Given the description of an element on the screen output the (x, y) to click on. 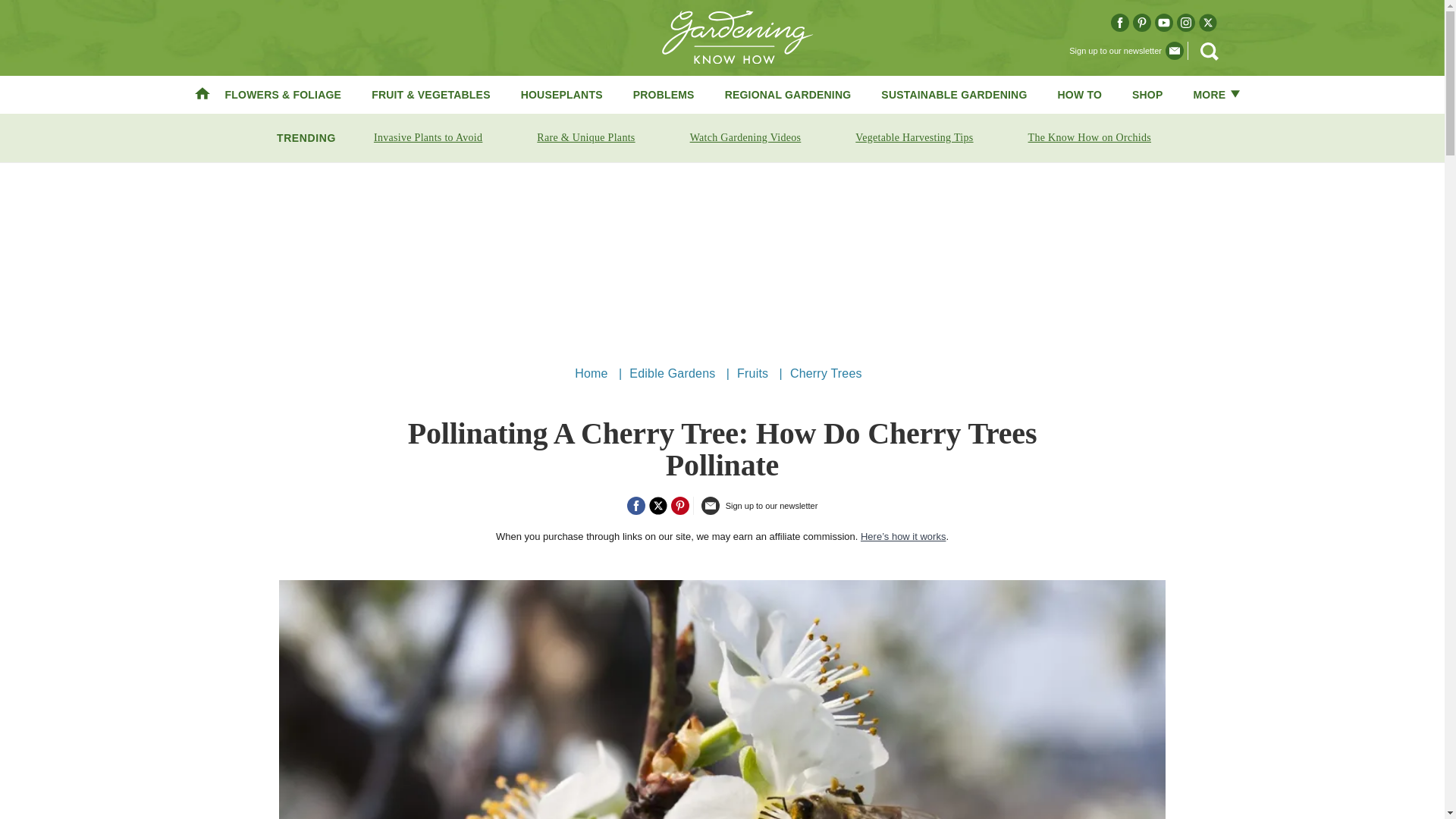
PROBLEMS (663, 94)
HOUSEPLANTS (561, 94)
SUSTAINABLE GARDENING (953, 94)
REGIONAL GARDENING (788, 94)
